Given the description of an element on the screen output the (x, y) to click on. 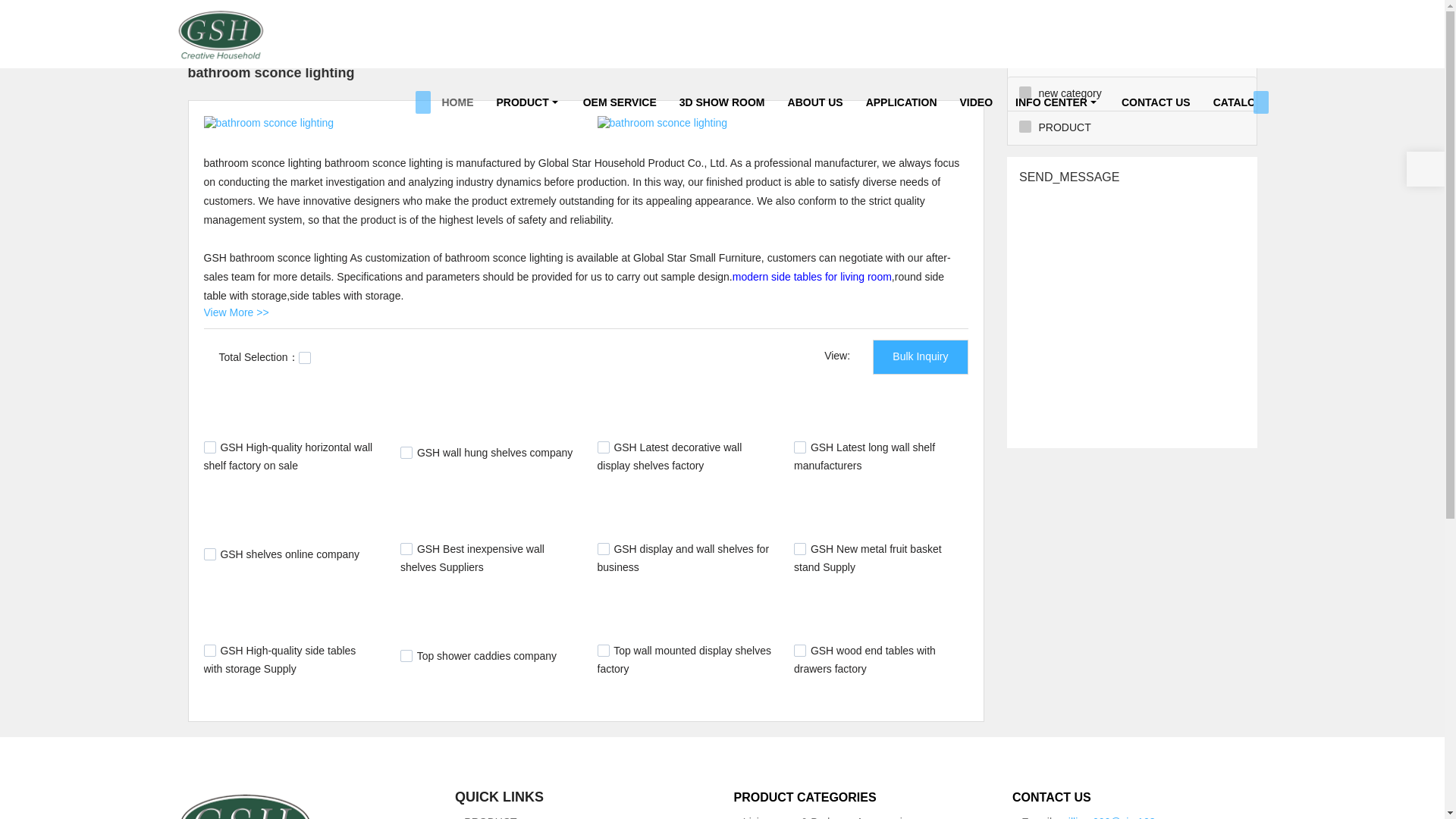
10344 (799, 650)
ABOUT US (815, 101)
CATALOGUE (1246, 101)
11441 (603, 548)
GSH Best inexpensive wall shelves Suppliers (472, 557)
GSH High-quality side tables with storage Supply (279, 659)
Home (188, 13)
11548 (406, 452)
3D SHOW ROOM (722, 101)
10789 (406, 655)
11446 (406, 548)
11507 (209, 553)
GSH wood end tables with drawers factory (864, 659)
AI based Content Aggregation (281, 13)
GSH shelves online company (289, 553)
